Given the description of an element on the screen output the (x, y) to click on. 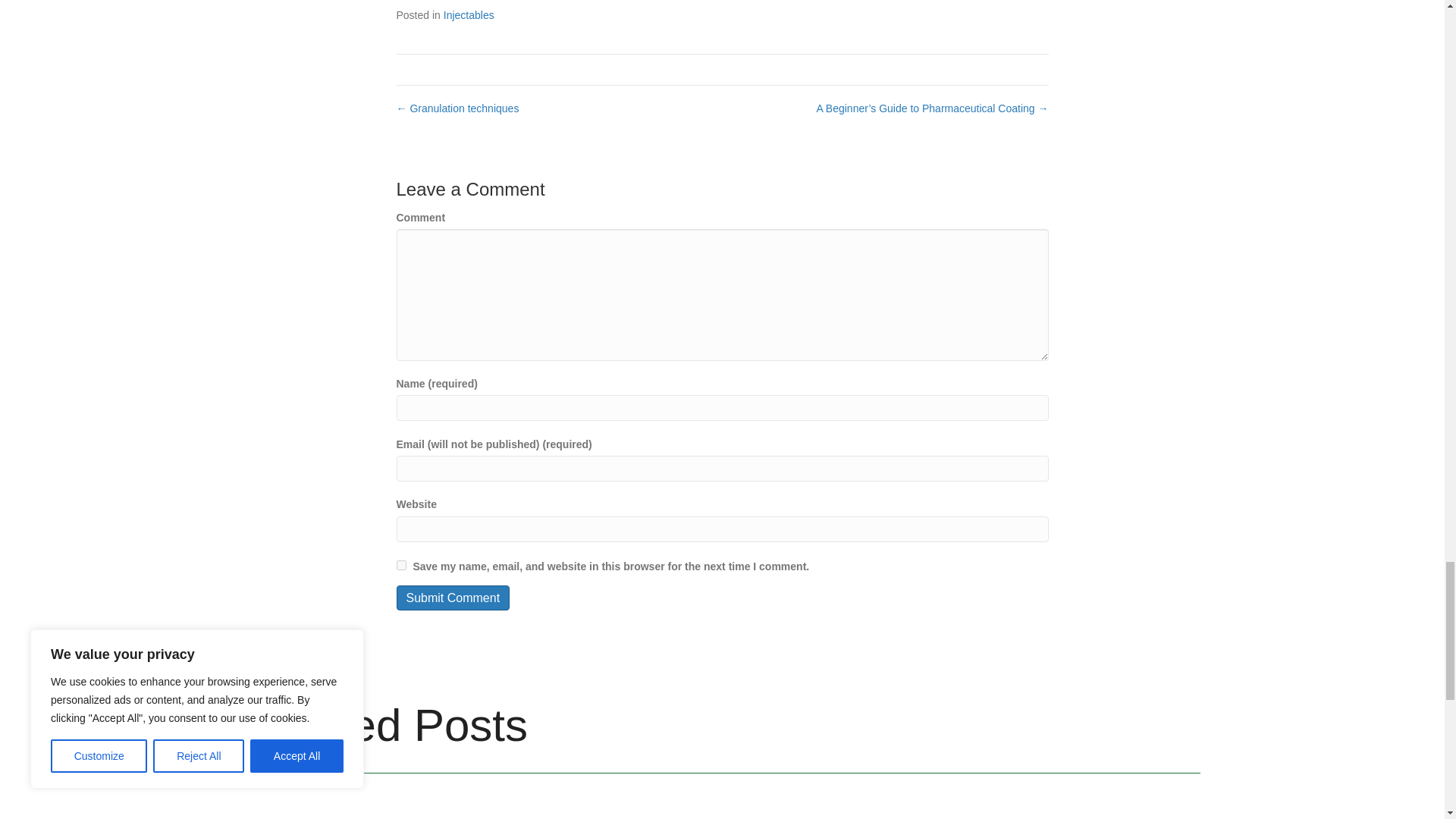
Submit Comment (452, 597)
yes (401, 565)
